Given the description of an element on the screen output the (x, y) to click on. 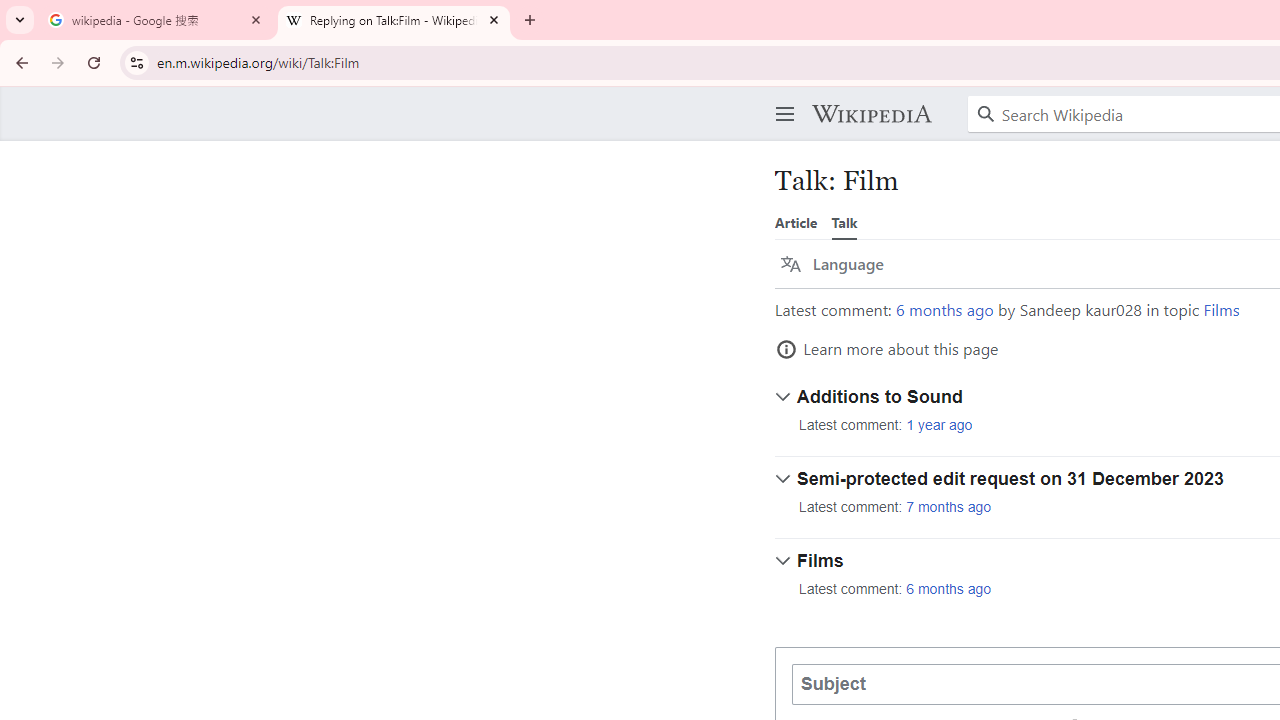
7 months ago (949, 507)
Films (1221, 309)
Replying on Talk:Film - Wikipedia (394, 20)
6 months ago (949, 589)
AutomationID: main-menu-input (781, 98)
Learn more about this page (887, 349)
